Given the description of an element on the screen output the (x, y) to click on. 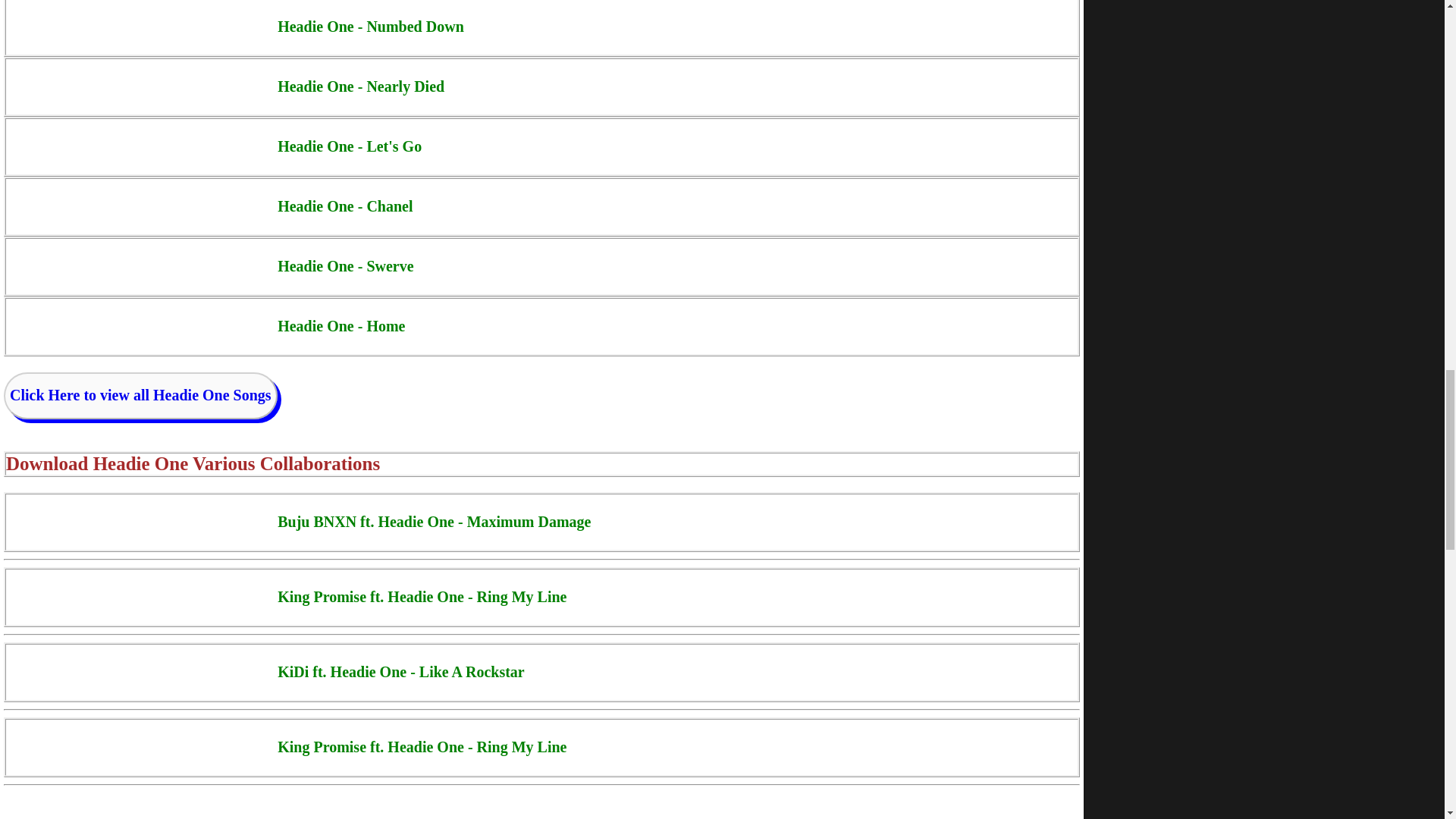
Click Here to view all Headie One Songs (141, 395)
Click Here to view all Headie One Songs (140, 394)
